Given the description of an element on the screen output the (x, y) to click on. 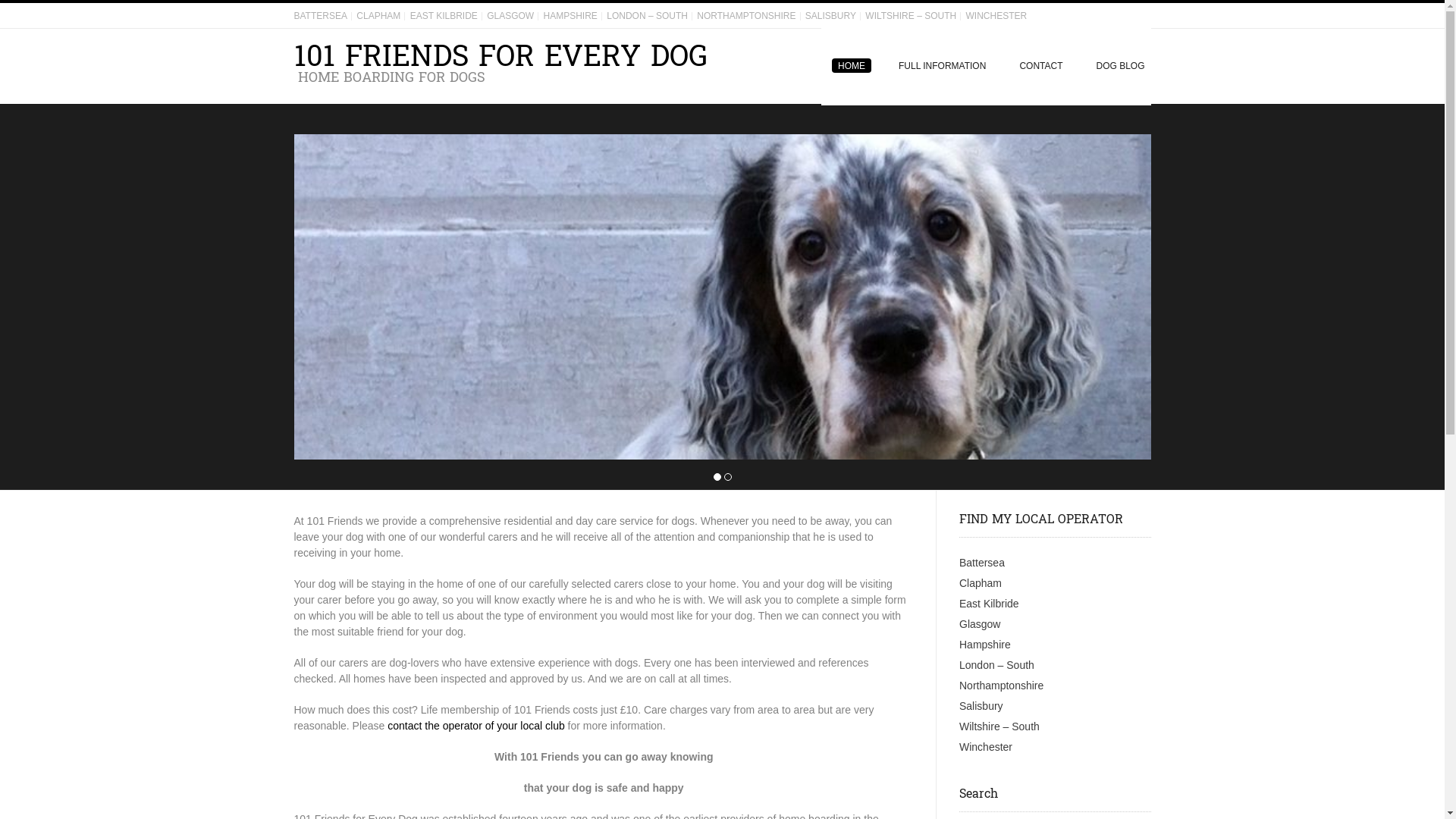
Glasgow Element type: text (979, 624)
Hampshire Element type: text (984, 644)
FULL INFORMATION Element type: text (941, 66)
EAST KILBRIDE Element type: text (443, 15)
HOME Element type: text (851, 66)
WINCHESTER Element type: text (995, 15)
Salisbury Element type: text (981, 705)
CLAPHAM Element type: text (378, 15)
Northamptonshire Element type: text (1001, 685)
GLASGOW Element type: text (509, 15)
SALISBURY Element type: text (830, 15)
1 Element type: text (716, 477)
2 Element type: text (726, 477)
Battersea Element type: text (981, 562)
NORTHAMPTONSHIRE Element type: text (745, 15)
DOG BLOG Element type: text (1114, 66)
HAMPSHIRE Element type: text (570, 15)
BATTERSEA Element type: text (320, 15)
Winchester Element type: text (985, 746)
Clapham Element type: text (980, 583)
East Kilbride Element type: text (989, 603)
101 FRIENDS FOR EVERY DOG Element type: text (500, 56)
contact the operator of your local club Element type: text (475, 725)
CONTACT Element type: text (1040, 66)
